Given the description of an element on the screen output the (x, y) to click on. 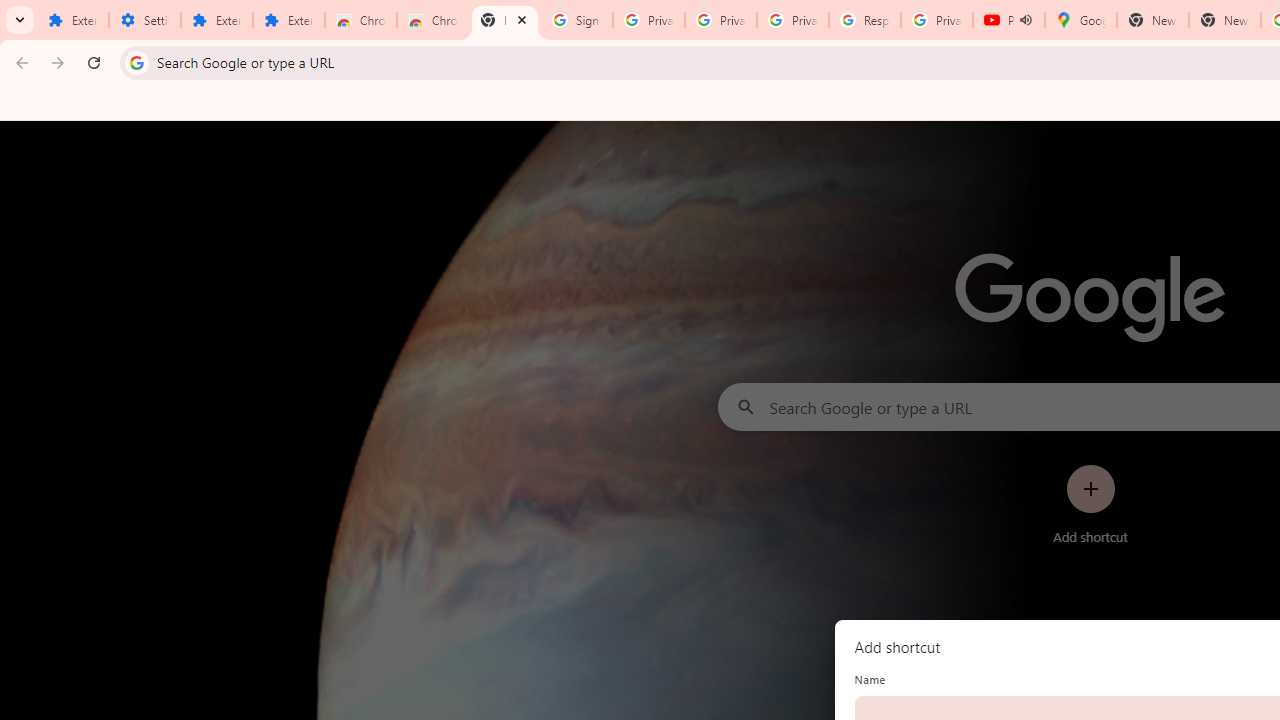
Personalized AI for you | Gemini - YouTube - Audio playing (1008, 20)
Extensions (289, 20)
Mute tab (1025, 20)
